Given the description of an element on the screen output the (x, y) to click on. 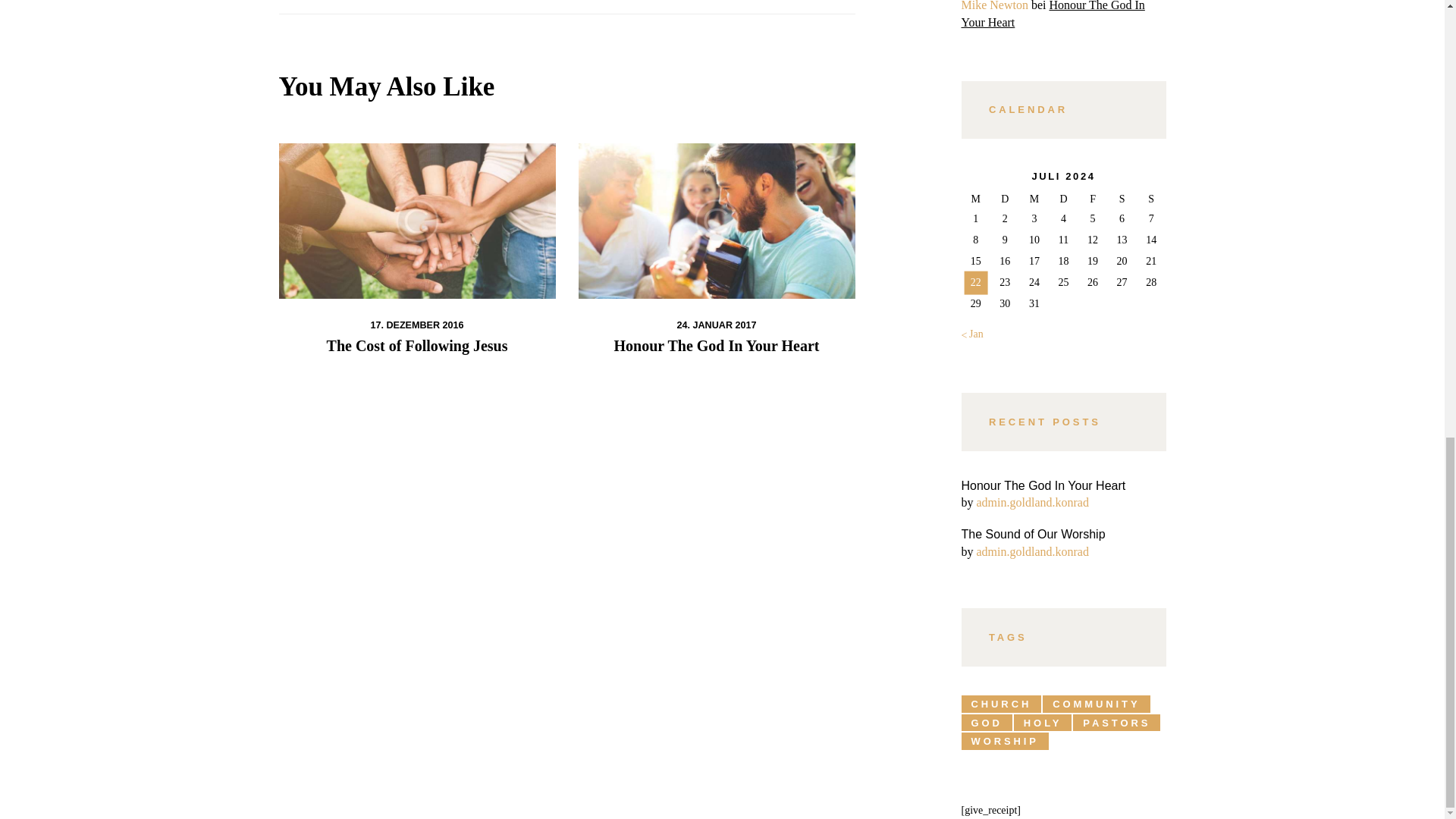
17. DEZEMBER 2016 (416, 325)
Montag (975, 198)
Dienstag (1005, 198)
The Cost of Following Jesus (417, 345)
Samstag (1121, 198)
Sonntag (1151, 198)
Mittwoch (1034, 198)
24. JANUAR 2017 (716, 325)
Honour The God In Your Heart (716, 345)
Freitag (1093, 198)
Donnerstag (1063, 198)
